Given the description of an element on the screen output the (x, y) to click on. 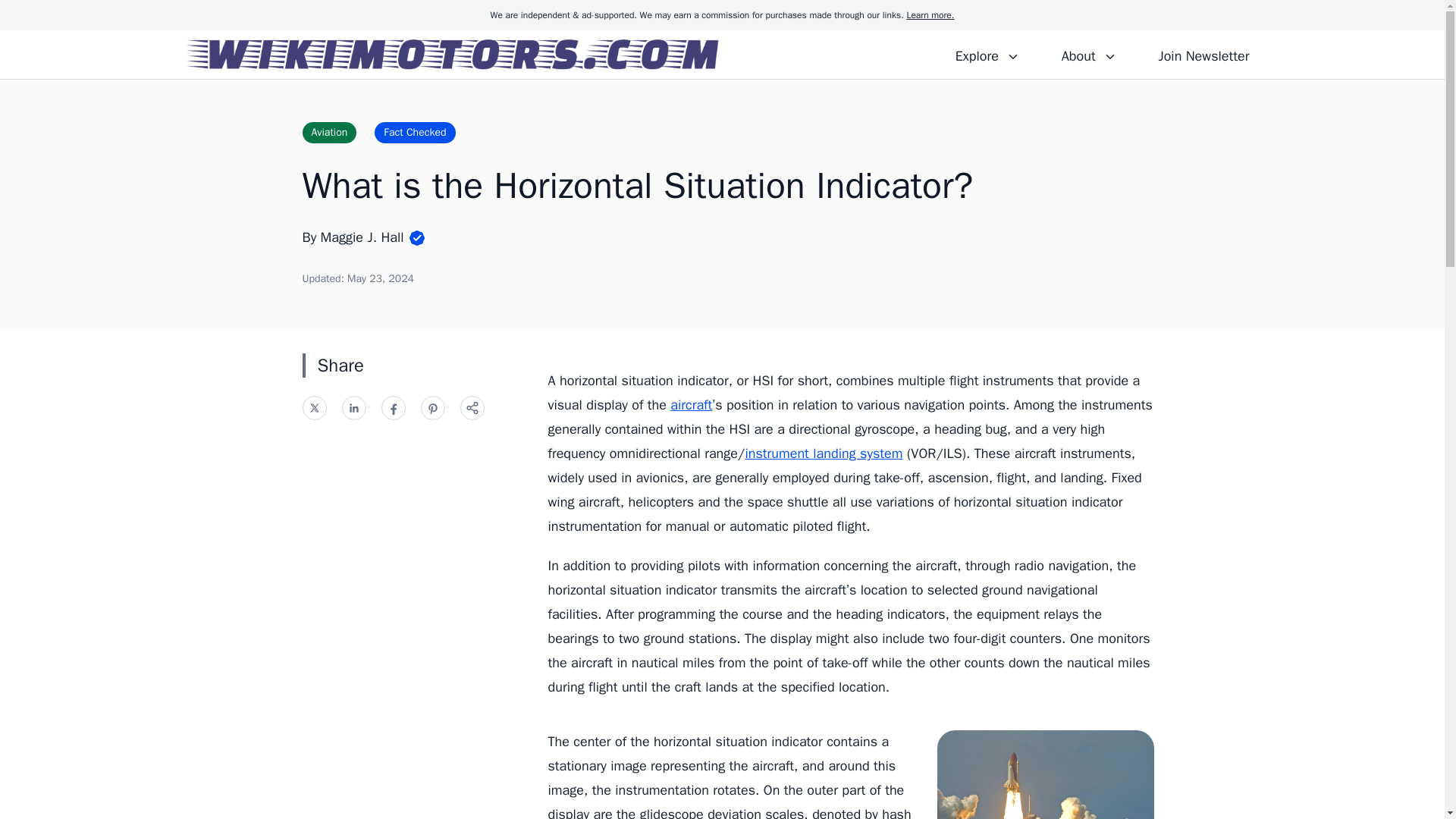
Fact Checked (414, 132)
Explore (986, 54)
Learn more. (929, 15)
About (1088, 54)
instrument landing system (823, 453)
aircraft (690, 404)
Join Newsletter (1202, 54)
Aviation (328, 132)
